Given the description of an element on the screen output the (x, y) to click on. 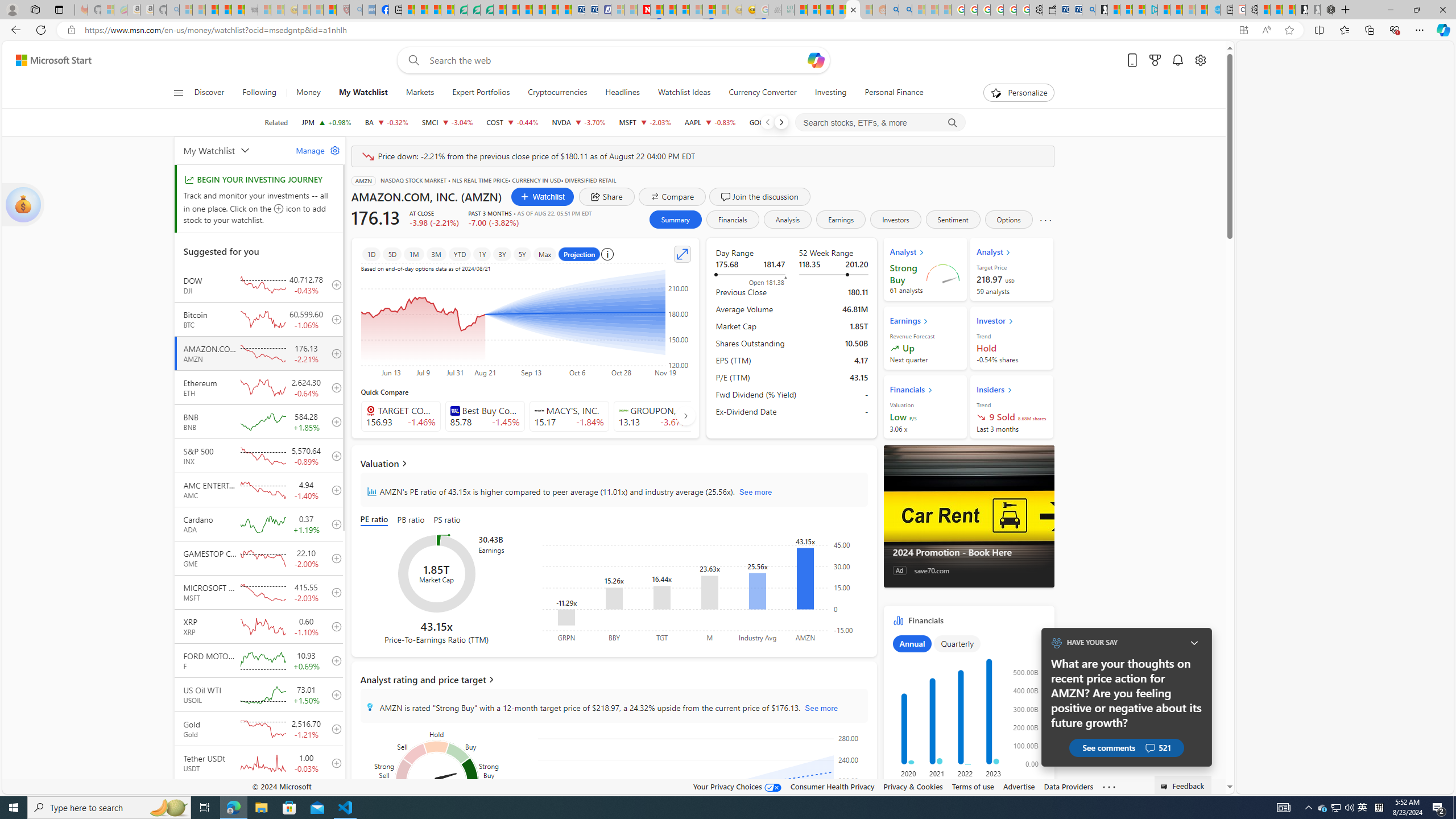
AutomationID: finance_carousel_navi_arrow (685, 415)
Student Loan Update: Forgiveness Program Ends This Month (839, 9)
Markets (420, 92)
1M (413, 254)
Data Providers (1068, 785)
Terms of Use Agreement (473, 9)
My Watchlist (362, 92)
